Given the description of an element on the screen output the (x, y) to click on. 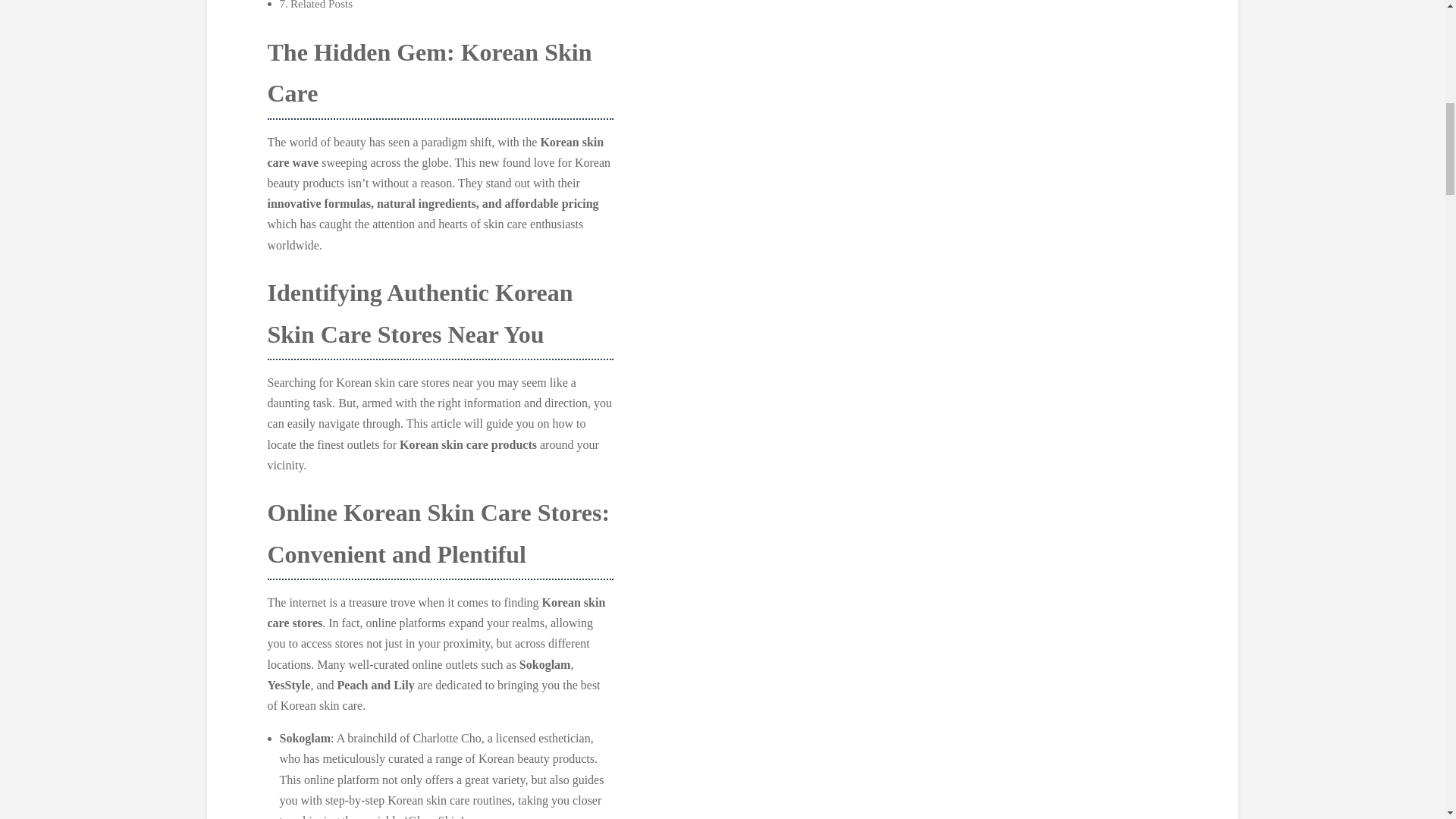
Related Posts (320, 4)
Related Posts (320, 4)
